Given the description of an element on the screen output the (x, y) to click on. 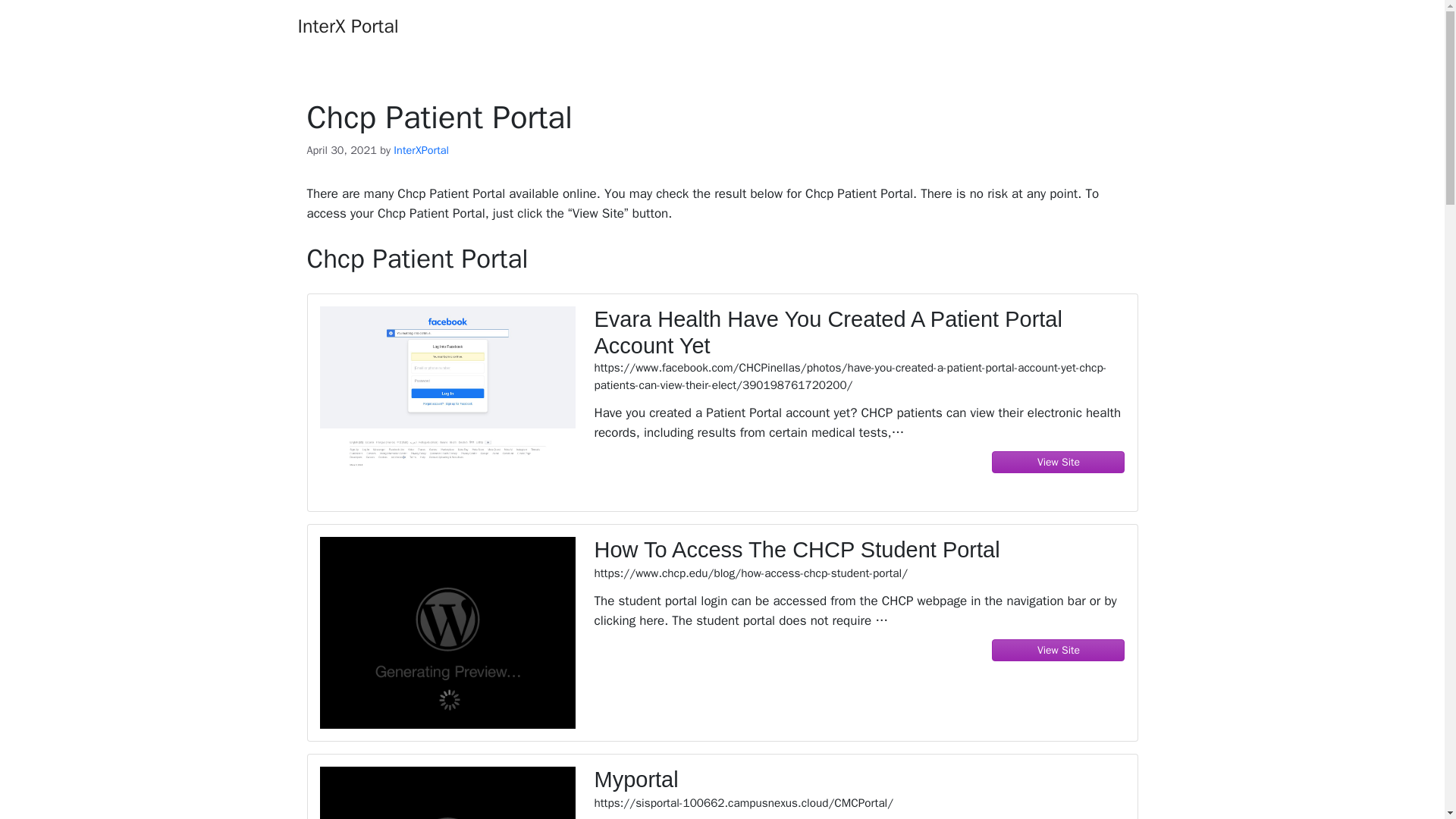
Myportal (859, 779)
View Site (1058, 461)
InterX Portal (347, 25)
View all posts by InterXPortal (420, 150)
How To Access The CHCP Student Portal (859, 550)
View Site (1058, 649)
InterXPortal (420, 150)
Evara Health Have You Created A Patient Portal Account Yet  (859, 332)
